Given the description of an element on the screen output the (x, y) to click on. 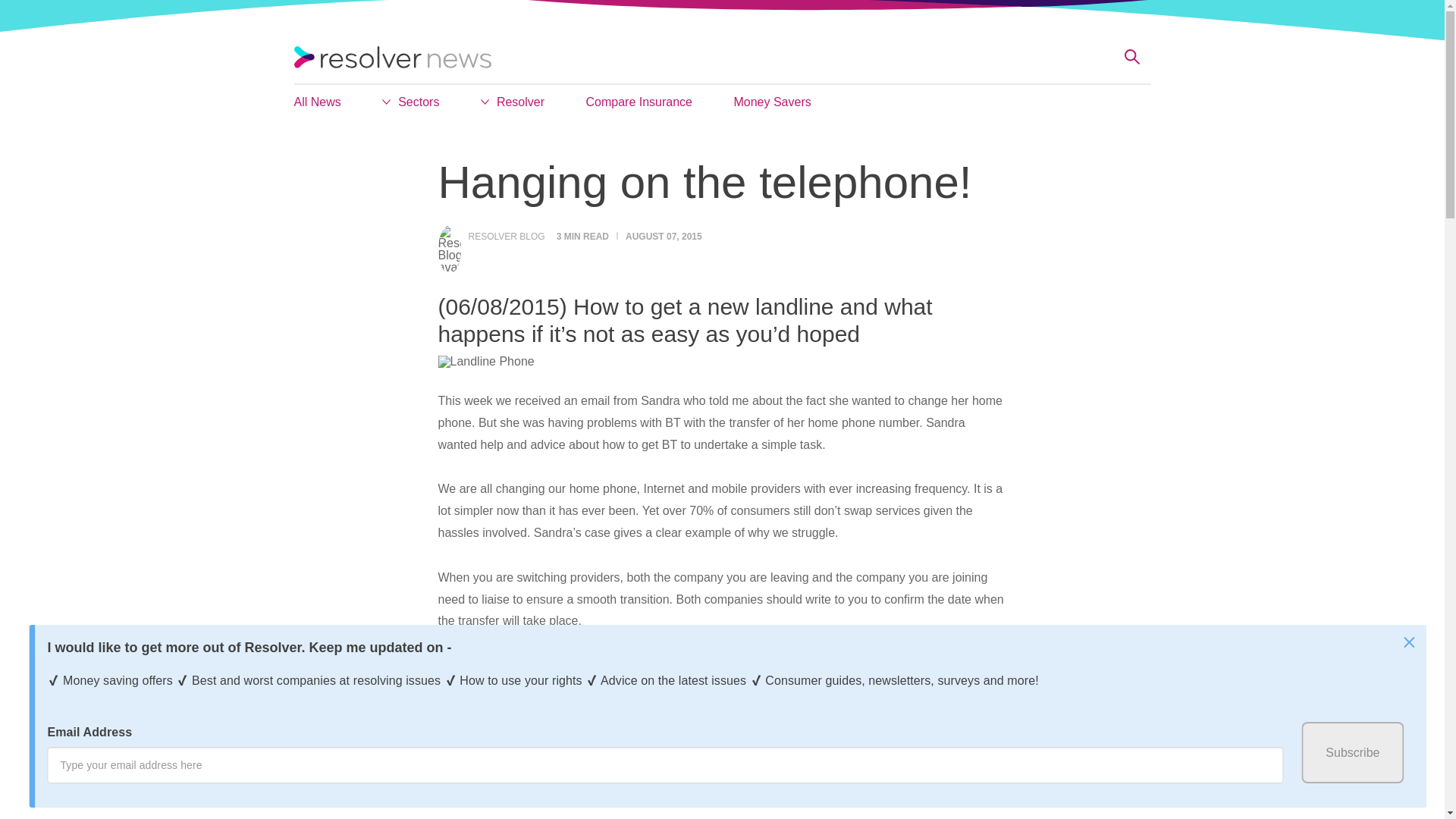
Landline Phone (486, 361)
RESOLVER BLOG (506, 235)
Sectors (410, 103)
All News (317, 103)
Money Savers (771, 103)
Compare Insurance (639, 103)
Resolver (512, 103)
